Given the description of an element on the screen output the (x, y) to click on. 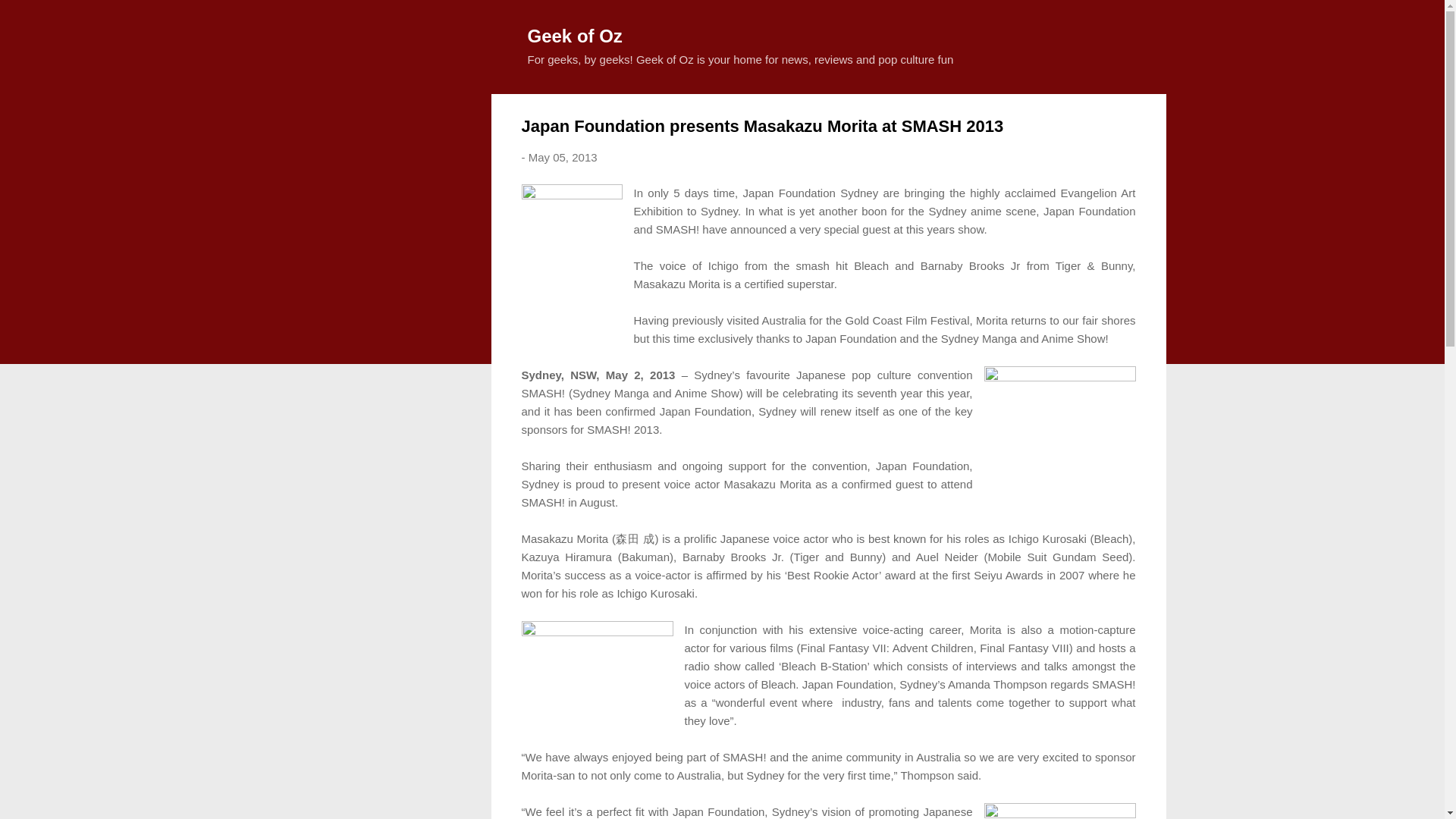
May 05, 2013 (562, 156)
Search (29, 18)
Geek of Oz (575, 35)
permanent link (562, 156)
